Given the description of an element on the screen output the (x, y) to click on. 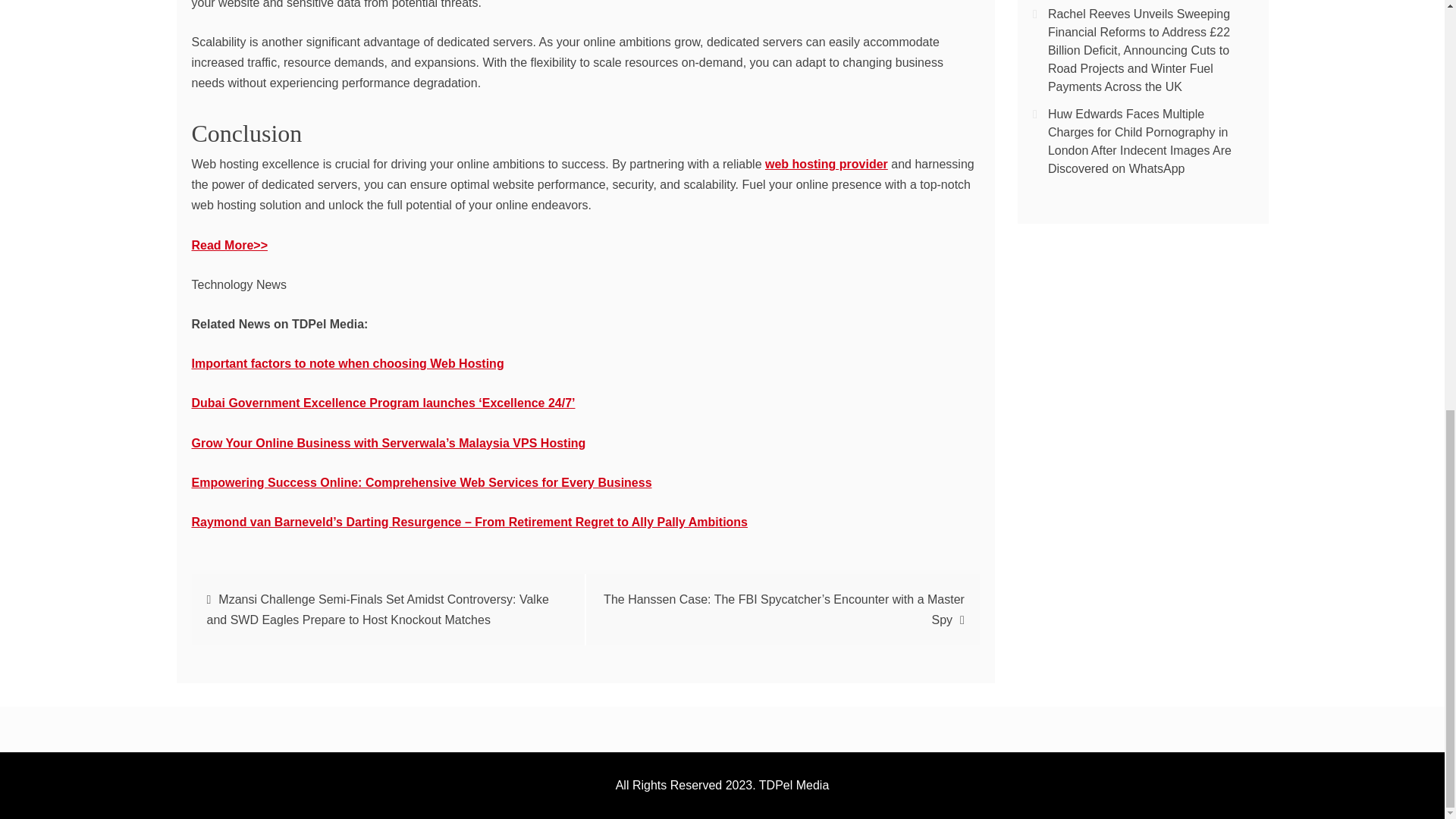
Important factors to note when choosing Web Hosting (346, 363)
Important factors to note when choosing Web Hosting (346, 363)
web hosting provider (826, 164)
